Given the description of an element on the screen output the (x, y) to click on. 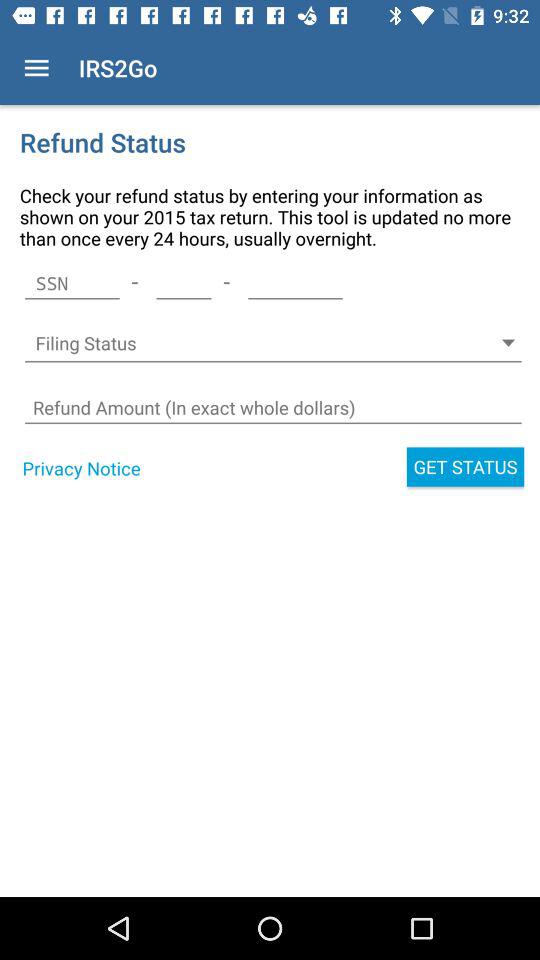
tap get status item (465, 466)
